Given the description of an element on the screen output the (x, y) to click on. 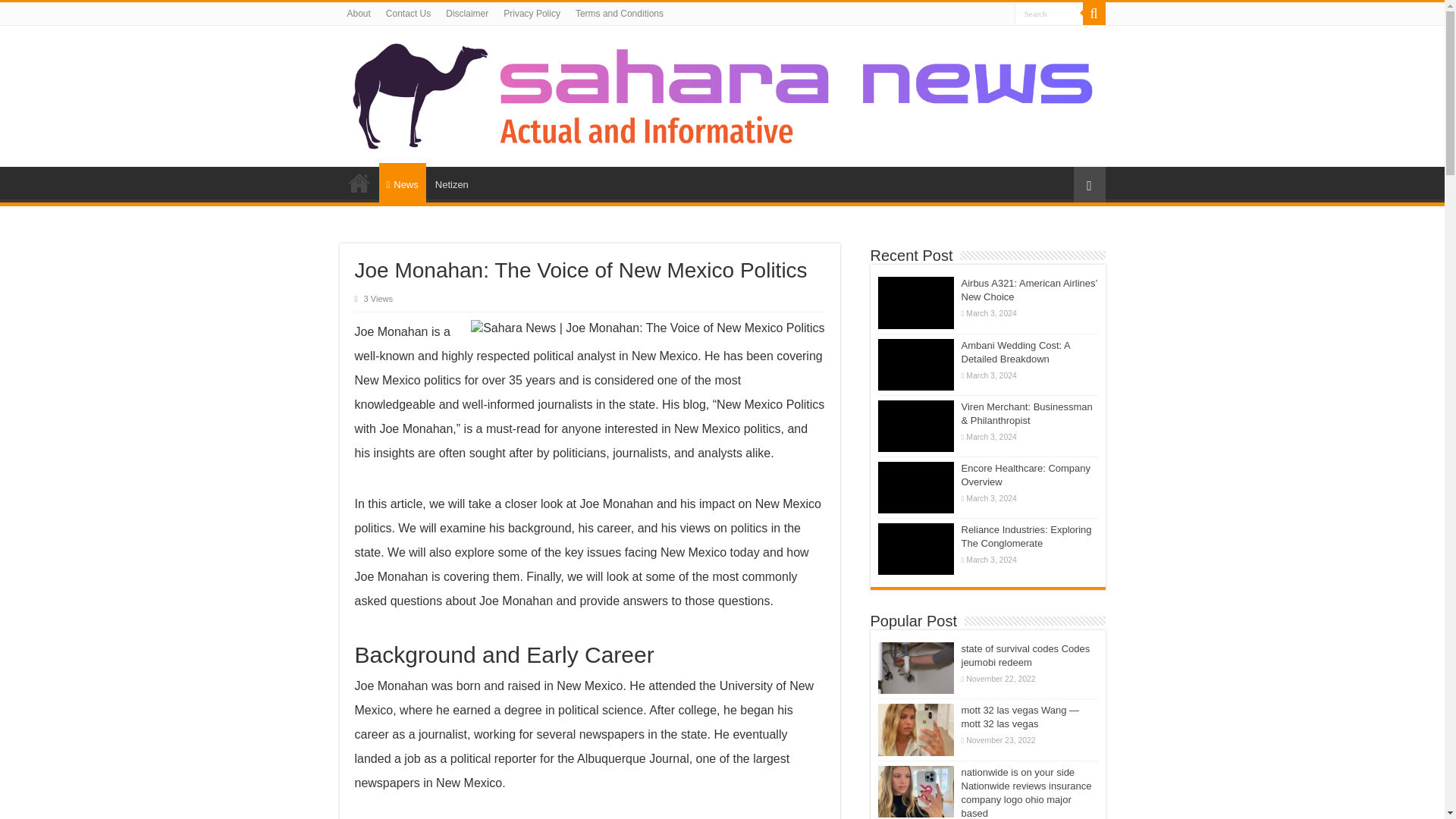
Search (1048, 13)
Reliance Industries: Exploring The Conglomerate (1026, 536)
Search (1094, 13)
News (402, 182)
Encore Healthcare: Company Overview (1025, 474)
Reliance Industries: Exploring The Conglomerate (915, 548)
Privacy Policy (531, 13)
Netizen (451, 183)
state of survival codes Codes jeumobi redeem (1025, 655)
HOME (358, 183)
Disclaimer (467, 13)
Joe Monahan: The Voice of New Mexico Politics (647, 328)
Encore Healthcare: Company Overview (915, 487)
Contact Us (408, 13)
Ambani Wedding Cost: A Detailed Breakdown (1015, 351)
